Given the description of an element on the screen output the (x, y) to click on. 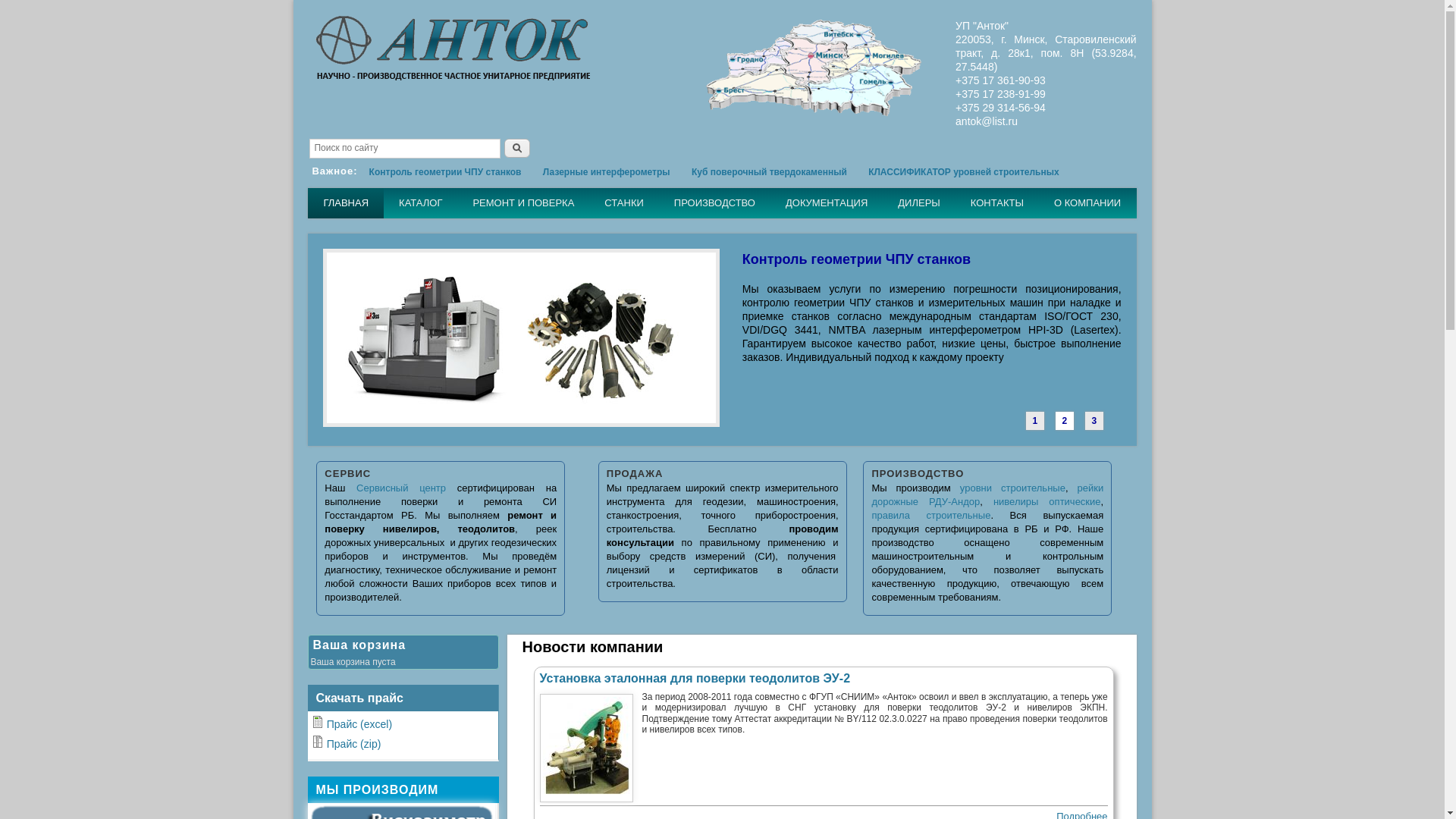
application/vnd.ms-excel Element type: hover (317, 721)
1 Element type: text (1035, 418)
application/zip Element type: hover (317, 741)
2 Element type: text (1064, 418)
3 Element type: text (1094, 418)
